Given the description of an element on the screen output the (x, y) to click on. 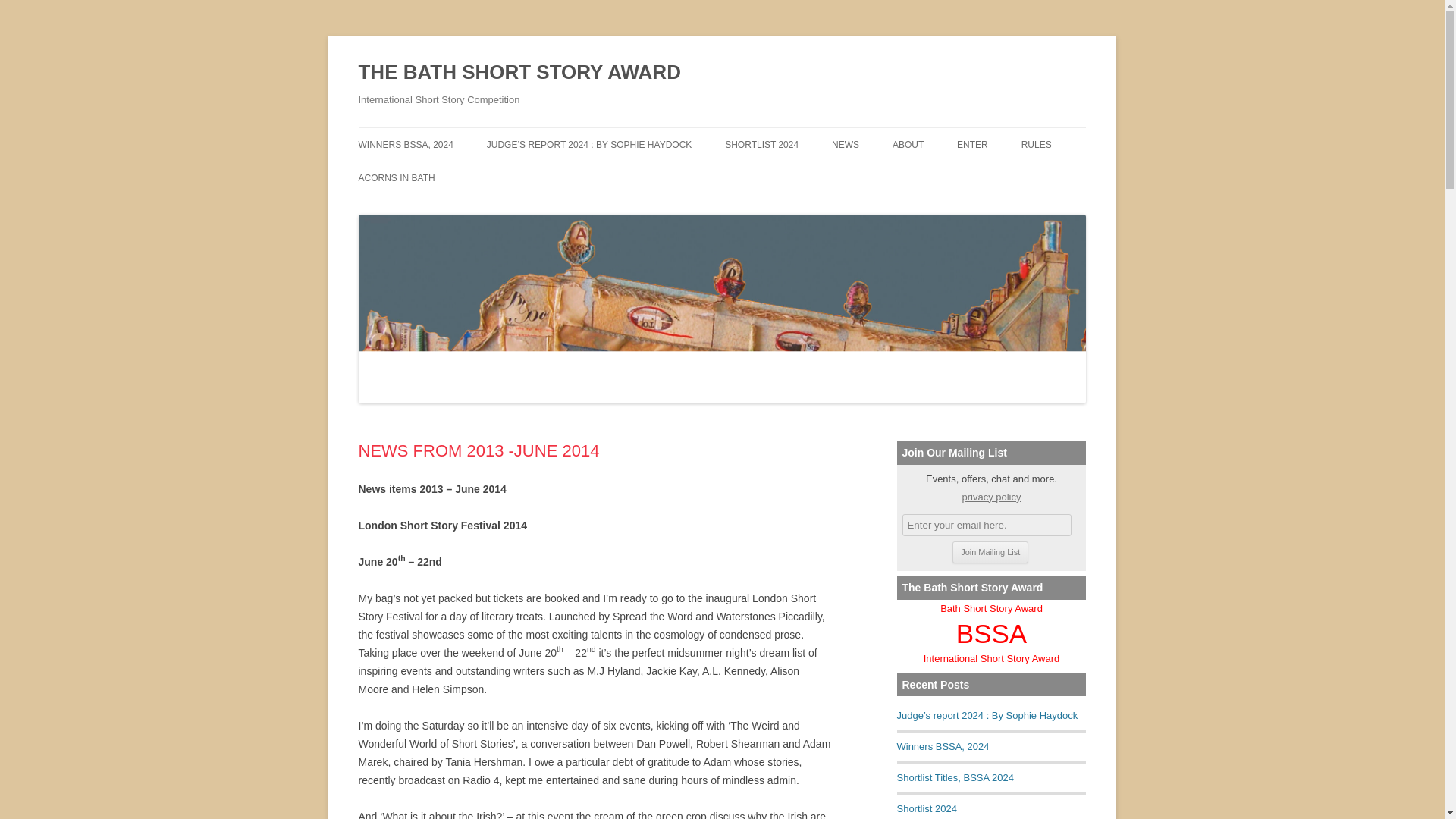
Join Mailing List (989, 552)
ACORNS IN BATH (395, 177)
Shortlist 2024 (926, 808)
THE BATH SHORT STORY AWARD (518, 72)
WINNERS BSSA, 2024 (405, 144)
RULES (1036, 144)
THE BATH SHORT STORY AWARD (518, 72)
ENTER (972, 144)
SHORTLIST 2024 (761, 144)
